Given the description of an element on the screen output the (x, y) to click on. 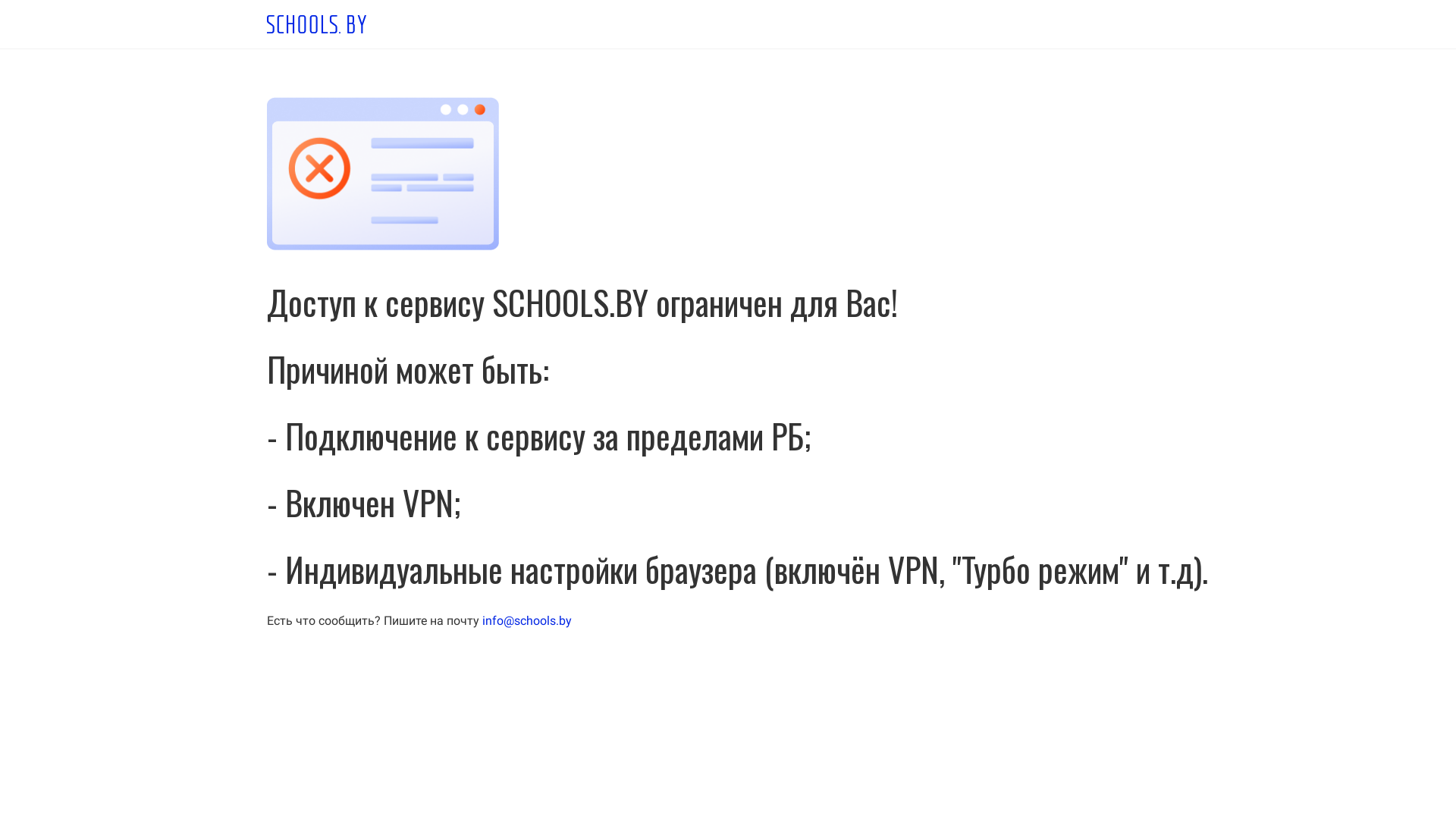
info@schools.by Element type: text (526, 620)
